Given the description of an element on the screen output the (x, y) to click on. 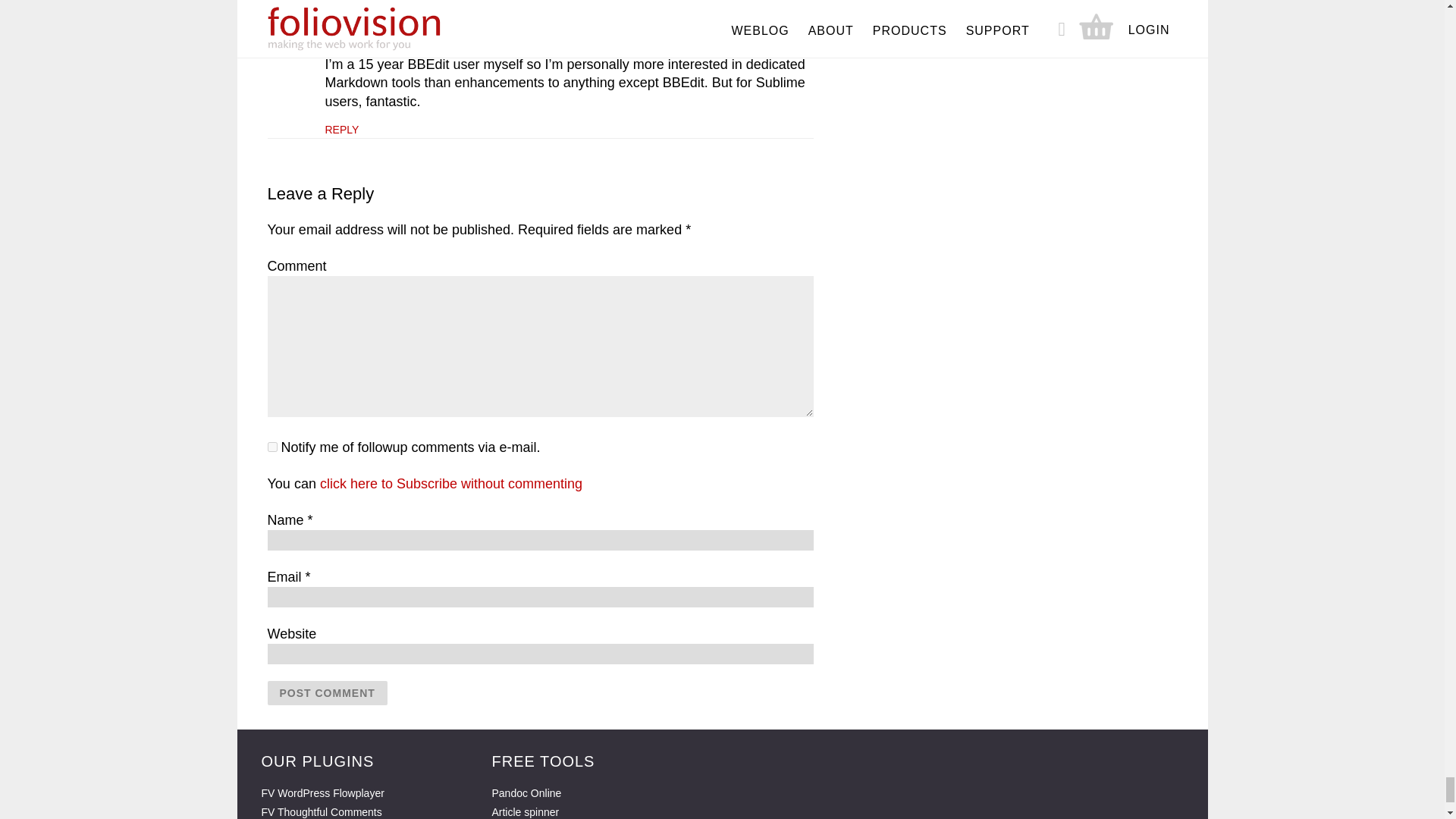
Post Comment (326, 692)
1 (271, 447)
